Given the description of an element on the screen output the (x, y) to click on. 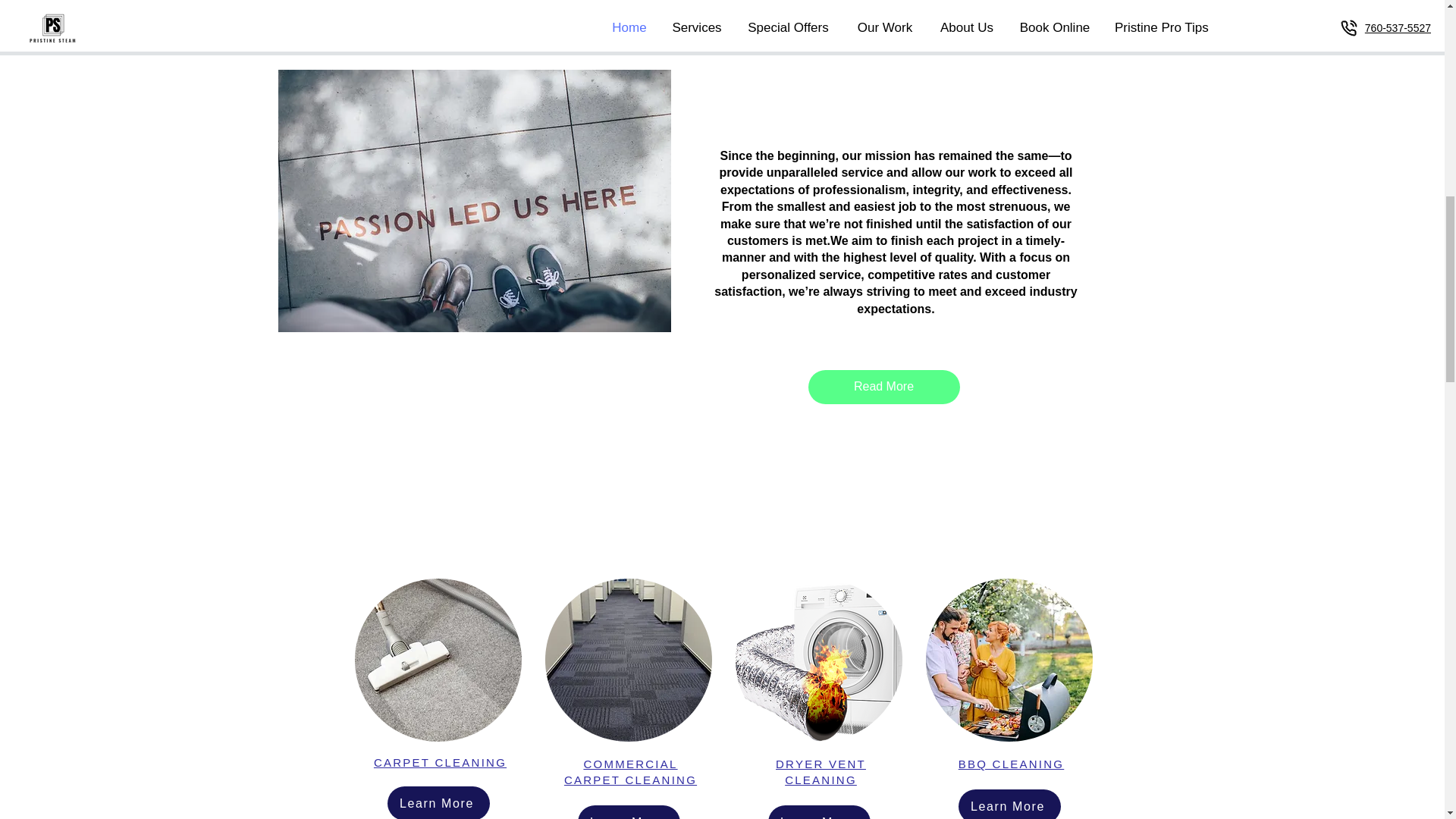
Learn More (818, 812)
CARPET CLEANING (821, 771)
Read More (440, 762)
Learn More (883, 387)
Learn More (630, 771)
